Given the description of an element on the screen output the (x, y) to click on. 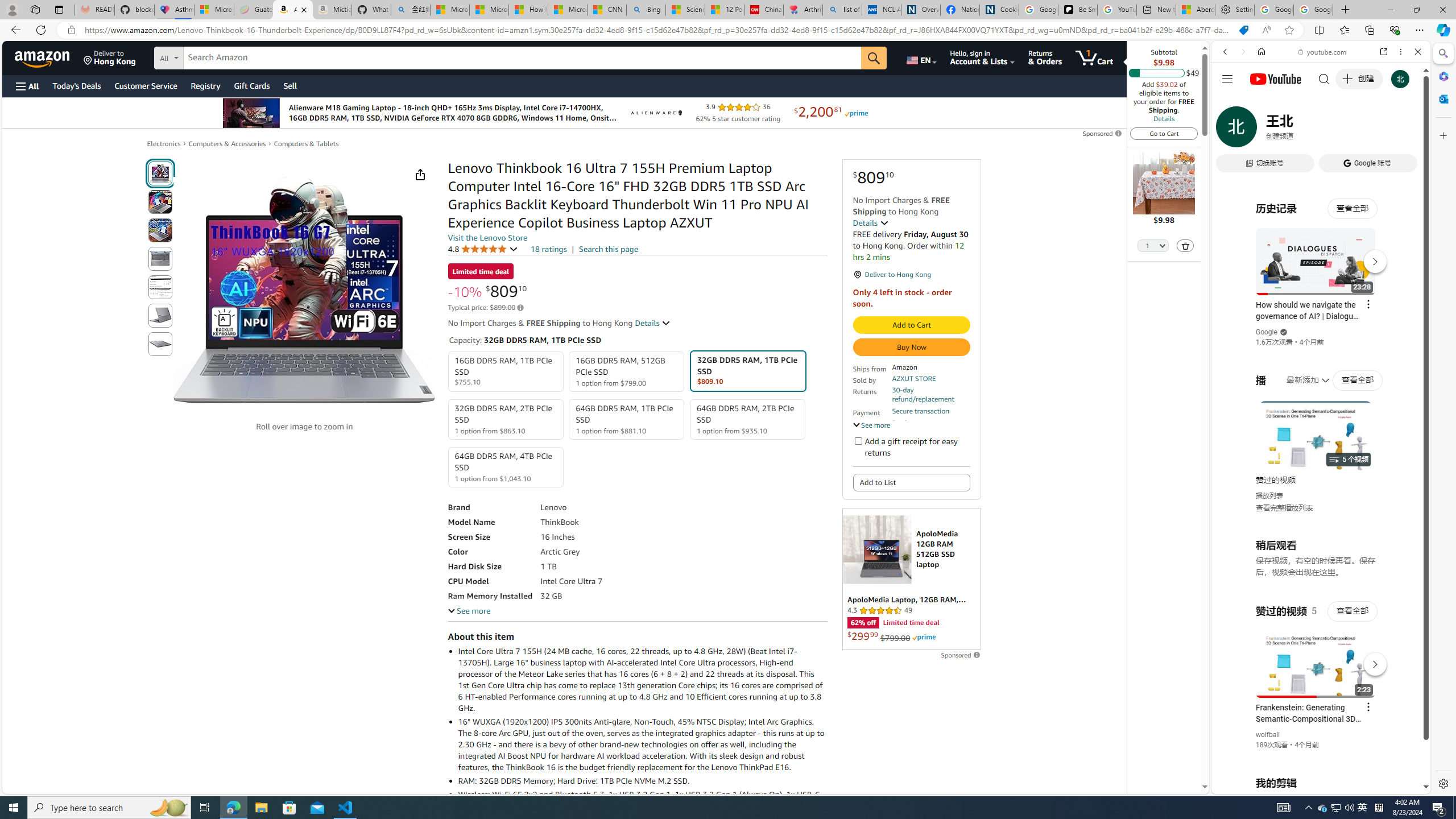
Preferences (1403, 129)
Tab actions menu (58, 9)
Google (1266, 331)
Skip to main content (48, 56)
Electronics (163, 143)
Workspaces (34, 9)
WEB   (1230, 130)
Settings (1234, 9)
YouTube (1315, 655)
